Given the description of an element on the screen output the (x, y) to click on. 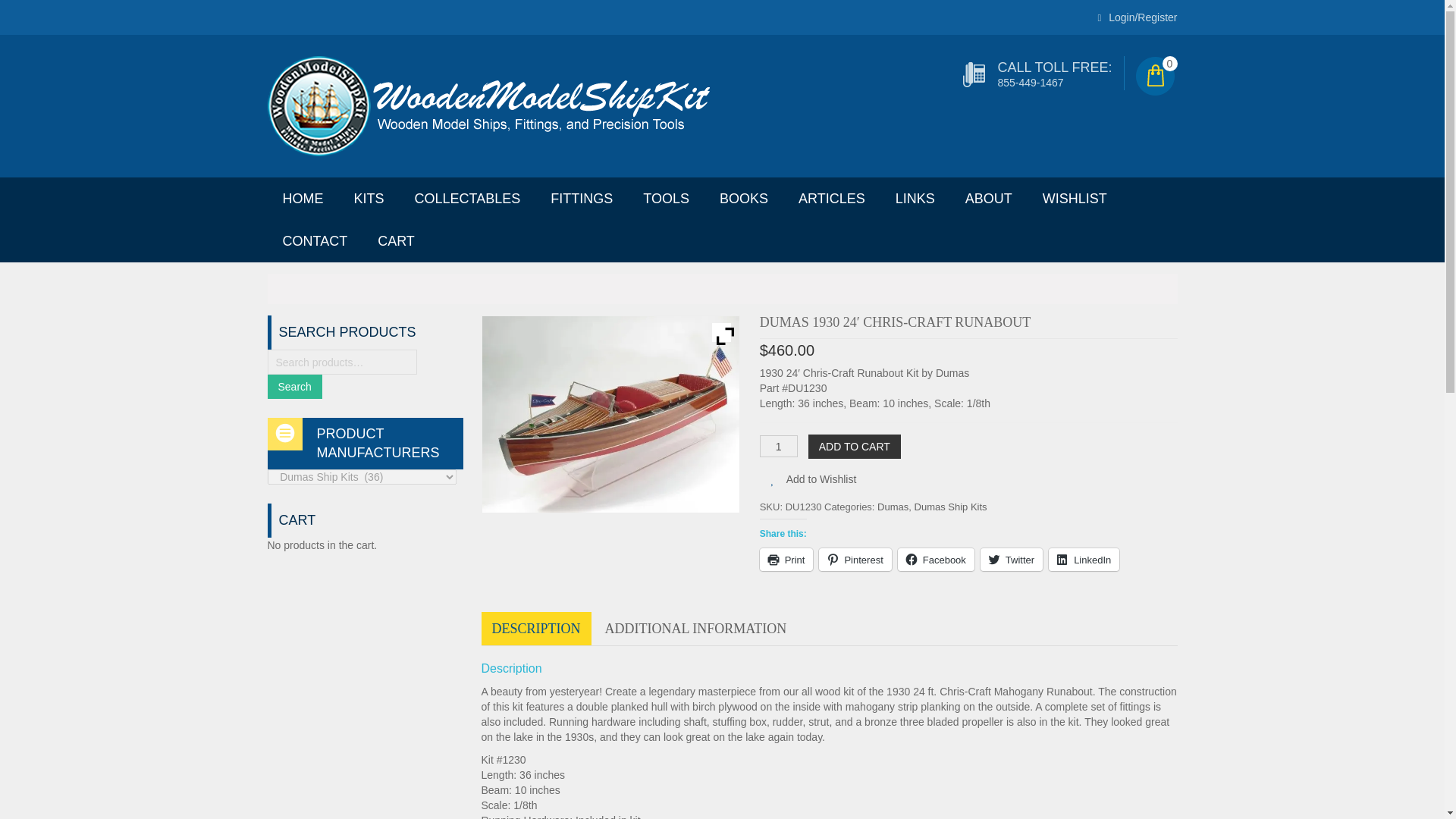
Twitter (1010, 558)
Click to print (786, 558)
BOOKS (743, 198)
Facebook (936, 558)
TOOLS (665, 198)
ARTICLES (831, 198)
CART (395, 241)
LinkedIn (1083, 558)
Click to share on Pinterest (854, 558)
Print (786, 558)
Add to Wishlist (821, 479)
View your shopping cart (1168, 63)
WoodenModelShipKit (487, 105)
HOME (301, 198)
DESCRIPTION (535, 628)
